Given the description of an element on the screen output the (x, y) to click on. 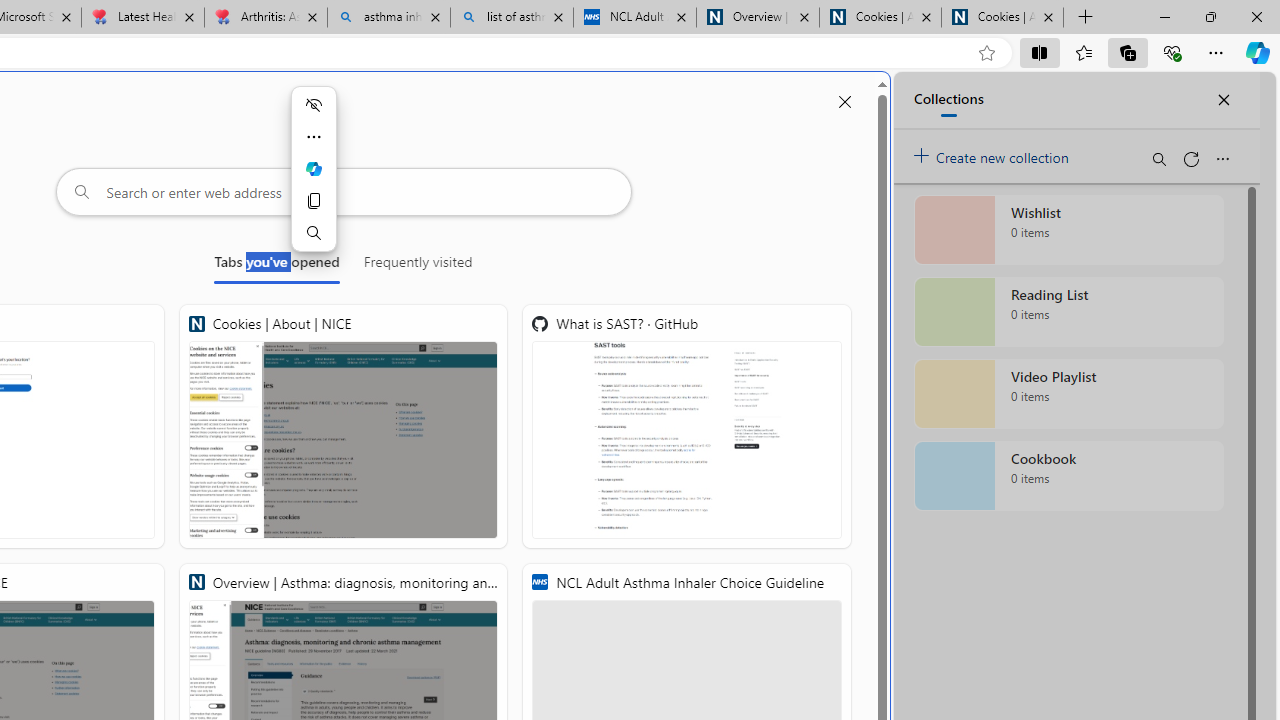
Hide menu (313, 104)
asthma inhaler - Search (388, 17)
